Given the description of an element on the screen output the (x, y) to click on. 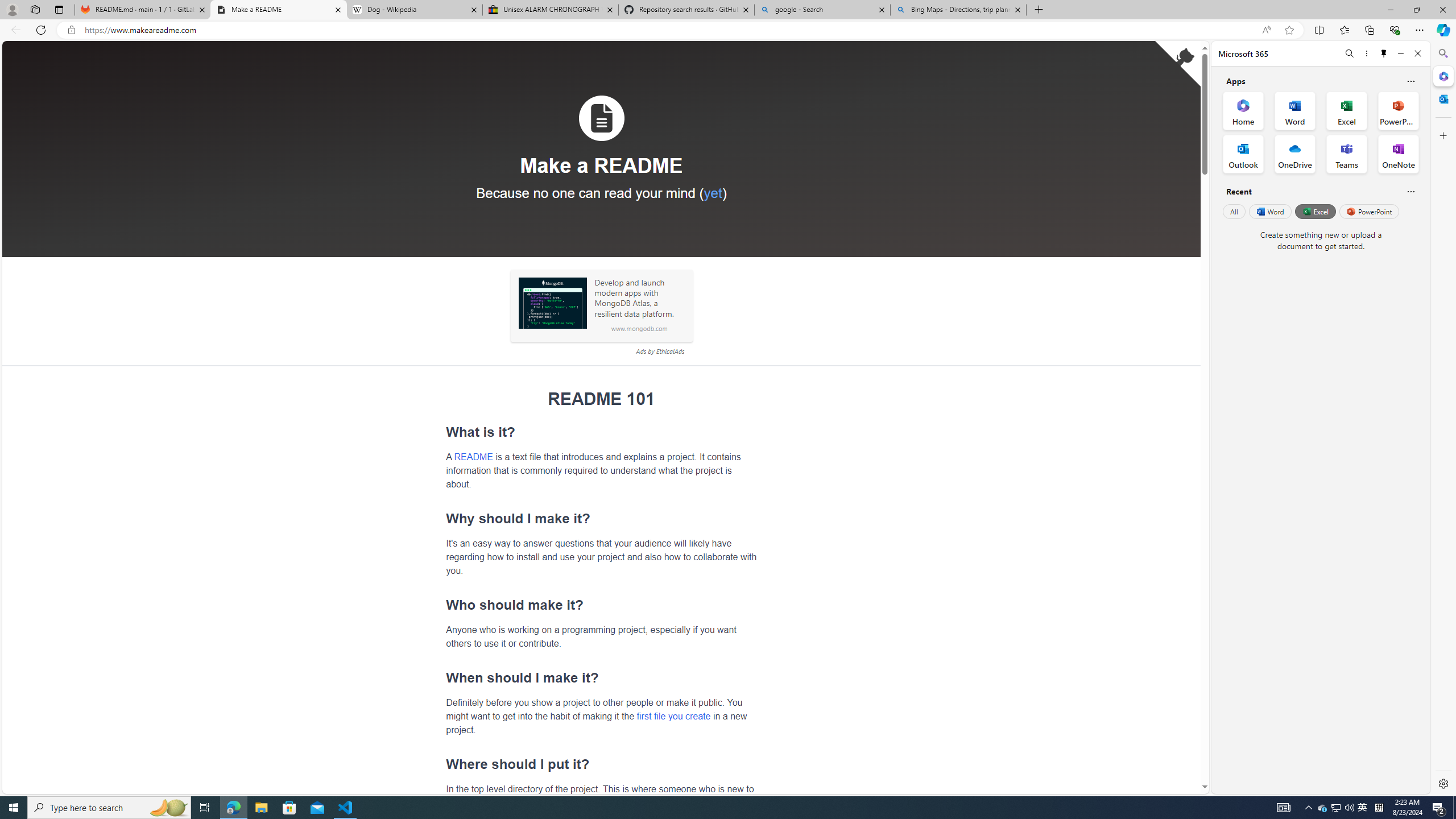
README (473, 456)
Teams Office App (1346, 154)
first file you create (673, 715)
Word Office App (1295, 110)
